Given the description of an element on the screen output the (x, y) to click on. 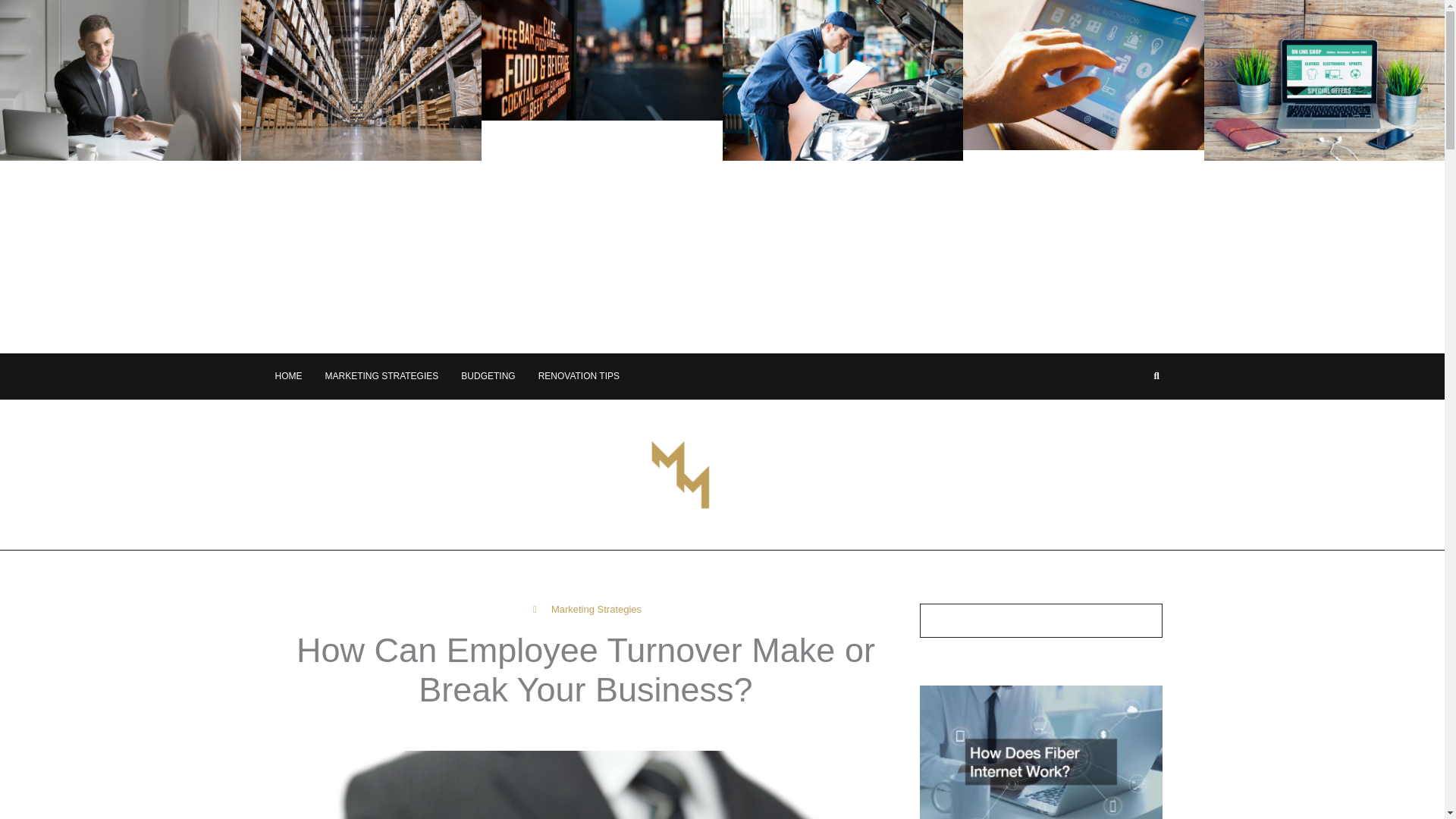
BUDGETING (488, 376)
MARKETING STRATEGIES (381, 376)
Marketing Strategies (596, 609)
RENOVATION TIPS (579, 376)
HOME (288, 376)
Alex "TechWhiz" Merrimack (523, 729)
November 5, 2022 (667, 729)
Search (1143, 620)
